Given the description of an element on the screen output the (x, y) to click on. 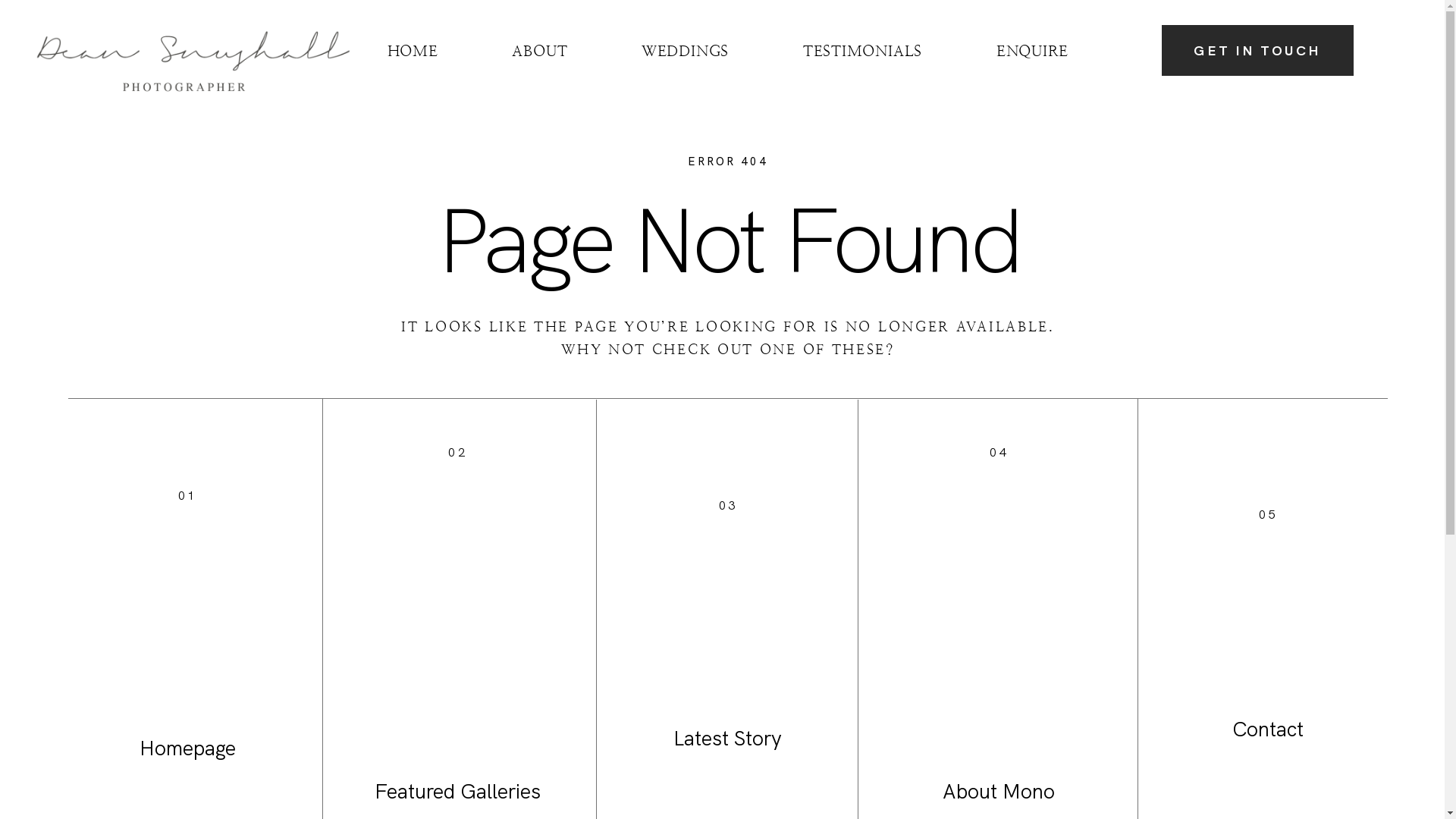
HOME Element type: text (412, 51)
GET IN TOUCH Element type: text (1257, 50)
WEDDINGS Element type: text (684, 51)
ENQUIRE Element type: text (1032, 51)
ABOUT Element type: text (539, 51)
TESTIMONIALS Element type: text (862, 51)
